Given the description of an element on the screen output the (x, y) to click on. 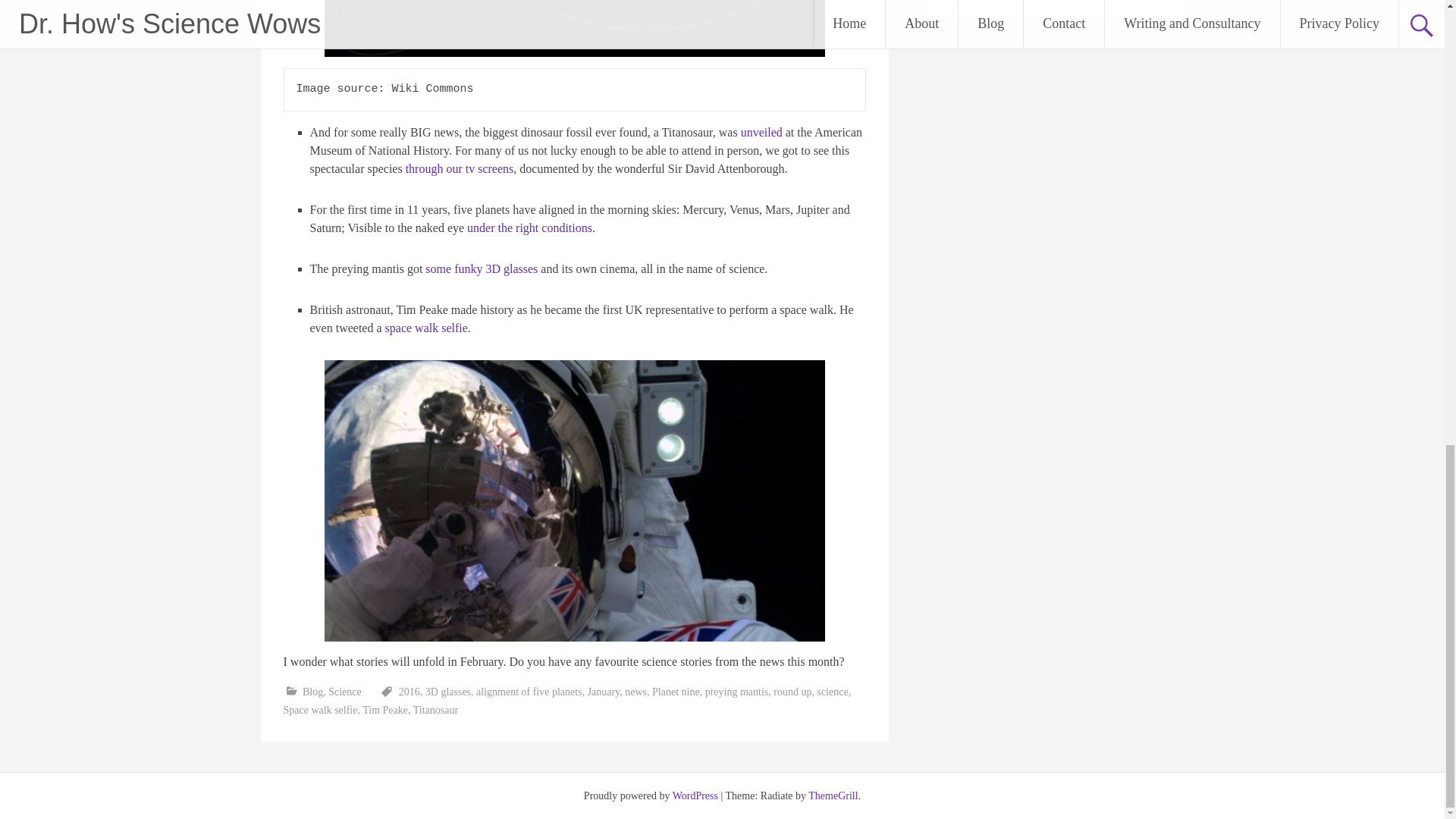
Planet nine (676, 691)
through our tv screens (459, 168)
alignment of five planets (529, 691)
news (635, 691)
preying mantis (736, 691)
space walk selfie (426, 327)
January (604, 691)
some funky 3D glasses (481, 268)
2016 (409, 691)
Blog (312, 691)
under the right conditions (529, 227)
unveiled (762, 132)
Tim Peake (384, 709)
Space walk selfie (320, 709)
science (831, 691)
